Given the description of an element on the screen output the (x, y) to click on. 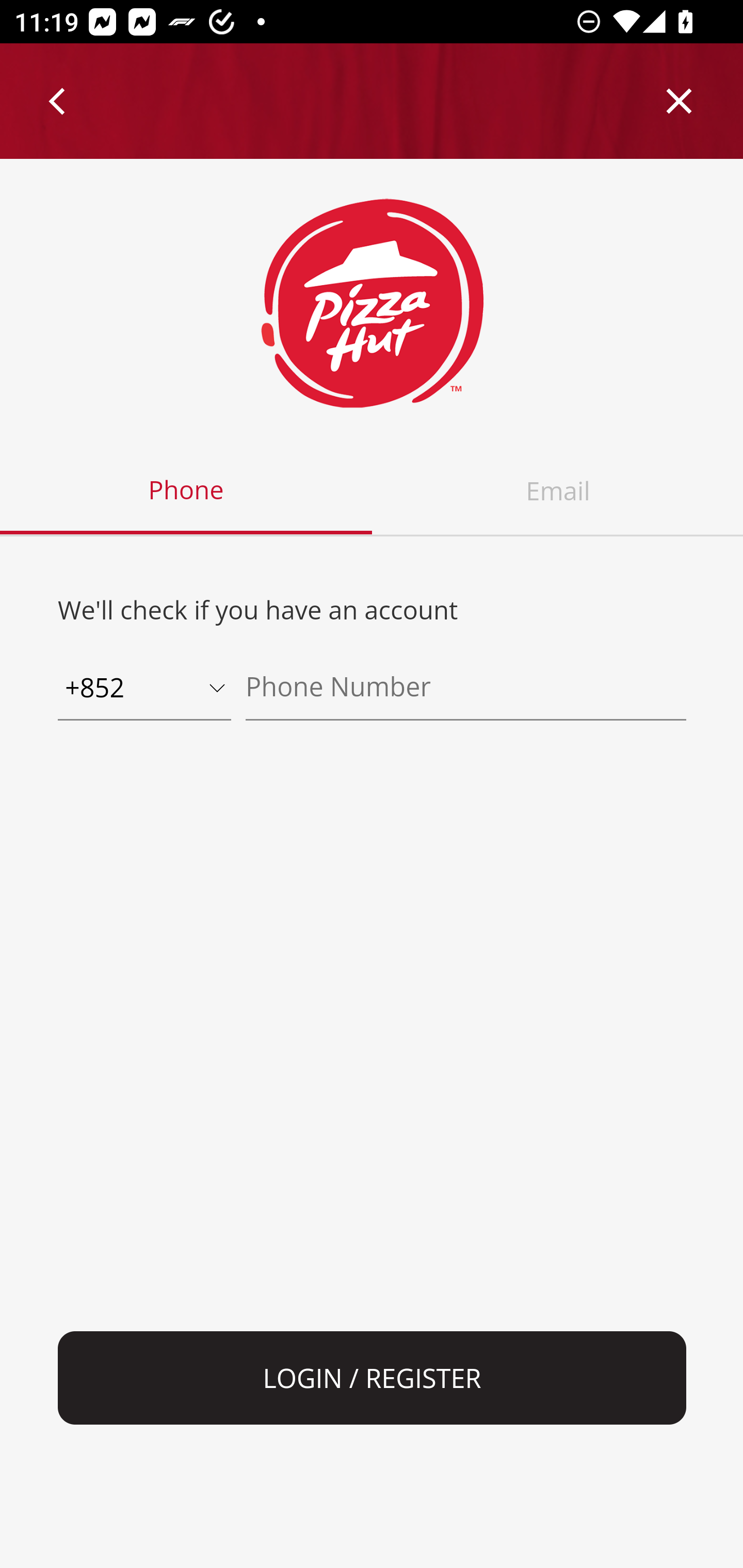
menu (58, 100)
close (679, 100)
Phone (186, 491)
Email (557, 491)
+852 (144, 688)
LOGIN / REGISTER (372, 1377)
